Given the description of an element on the screen output the (x, y) to click on. 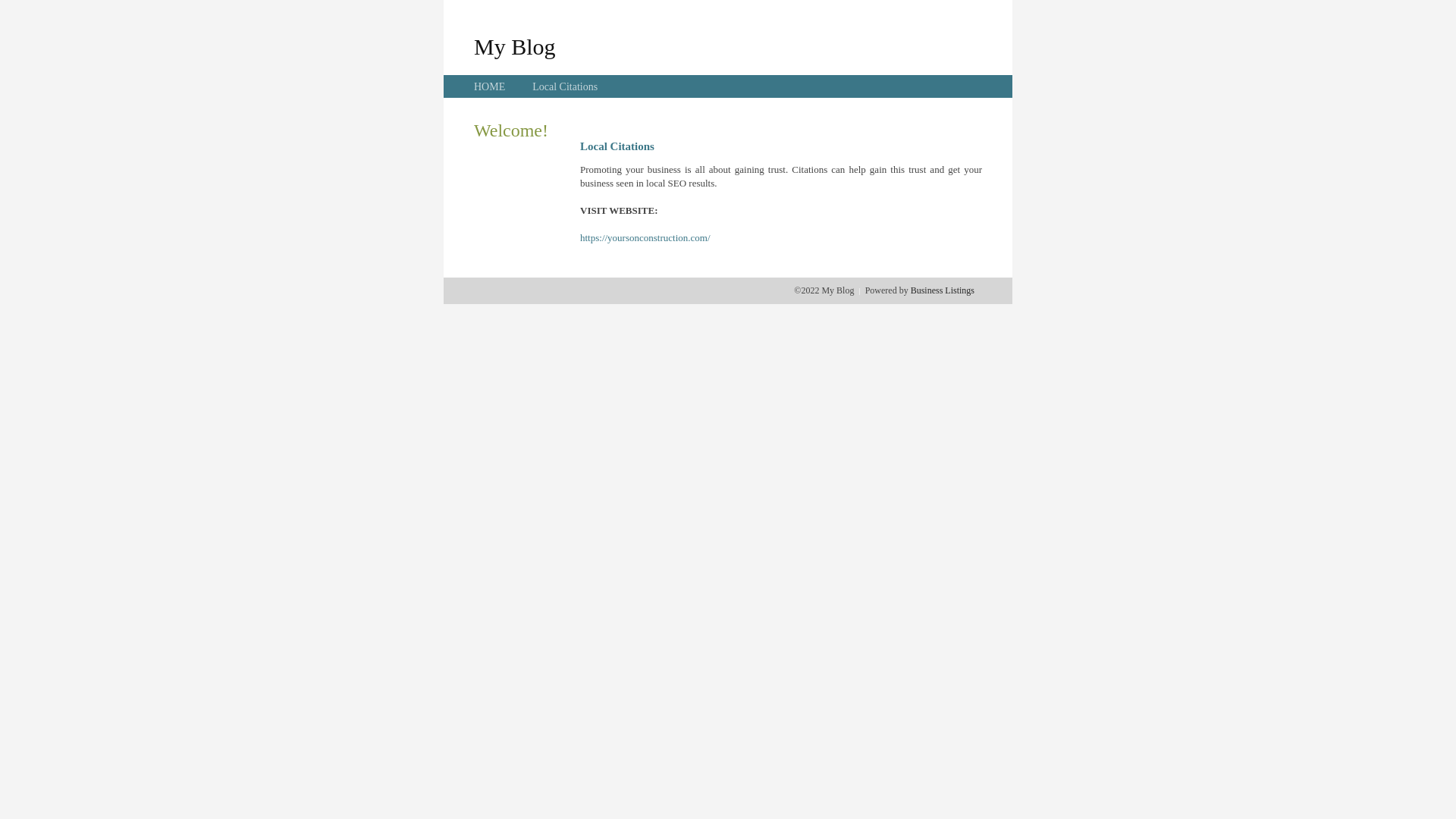
My Blog Element type: text (514, 46)
Local Citations Element type: text (564, 86)
HOME Element type: text (489, 86)
https://yoursonconstruction.com/ Element type: text (645, 237)
Business Listings Element type: text (942, 290)
